Given the description of an element on the screen output the (x, y) to click on. 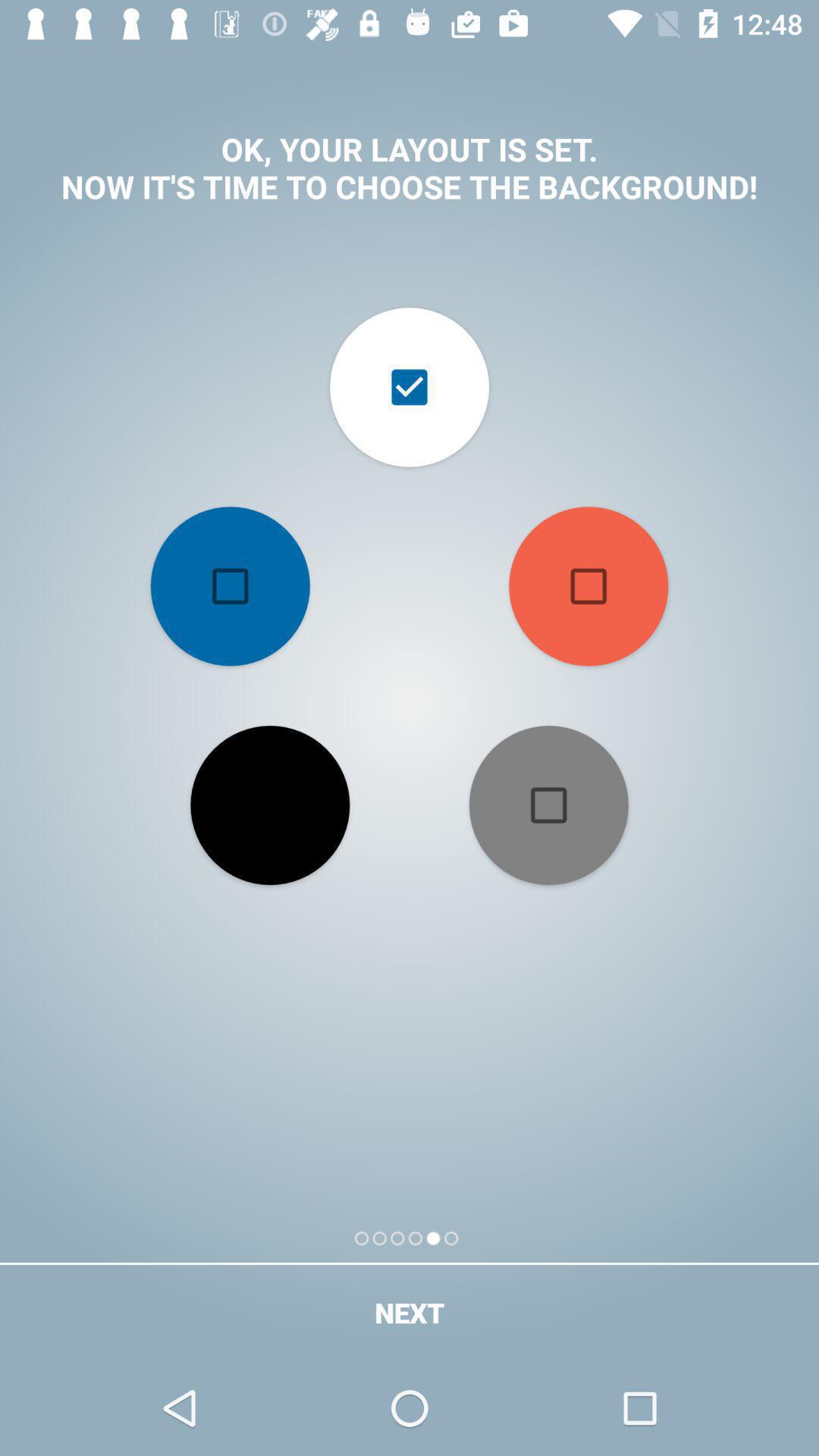
turn on the item below ok your layout (588, 586)
